Given the description of an element on the screen output the (x, y) to click on. 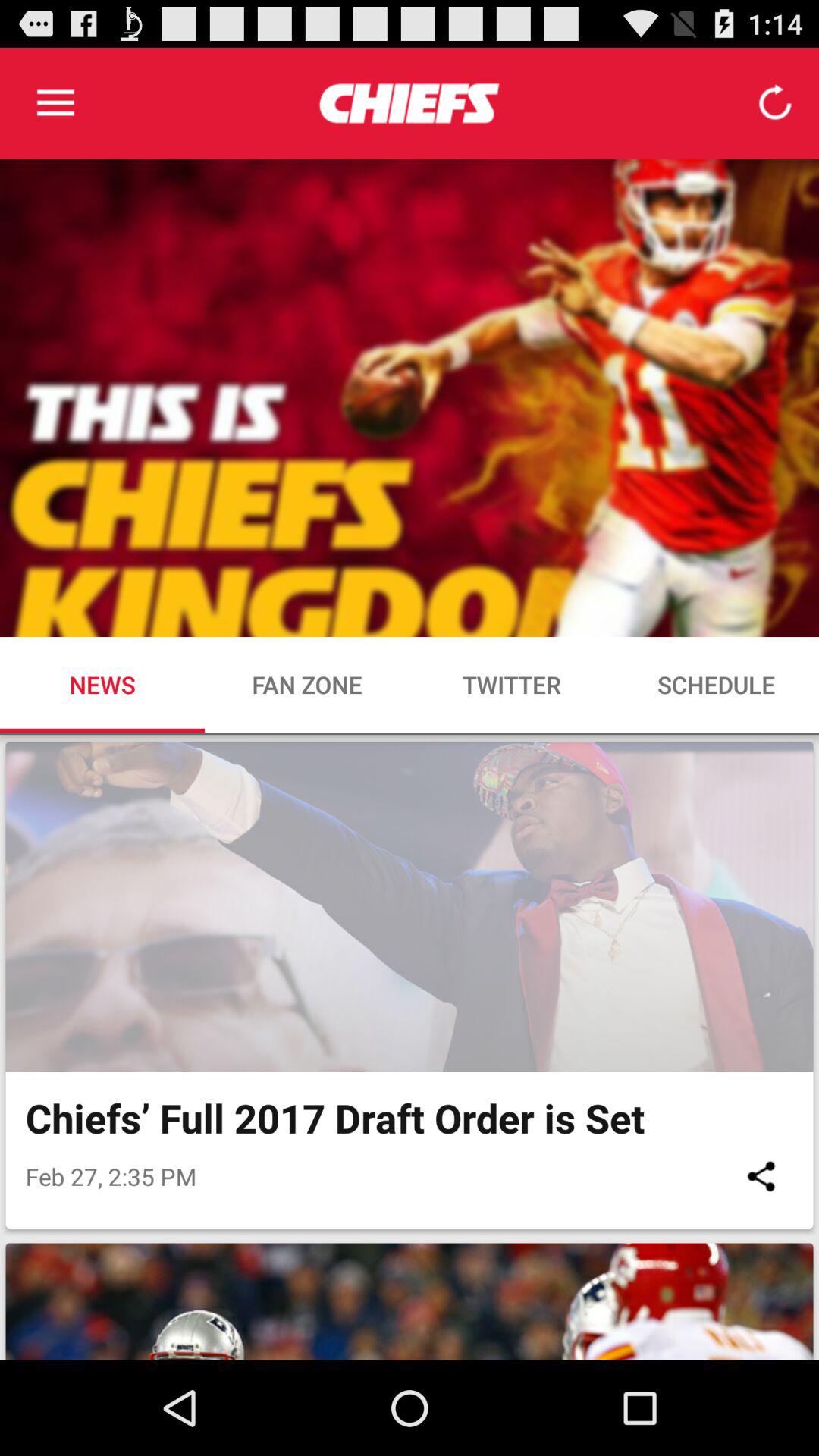
turn on the icon below chiefs full 2017 icon (761, 1176)
